Given the description of an element on the screen output the (x, y) to click on. 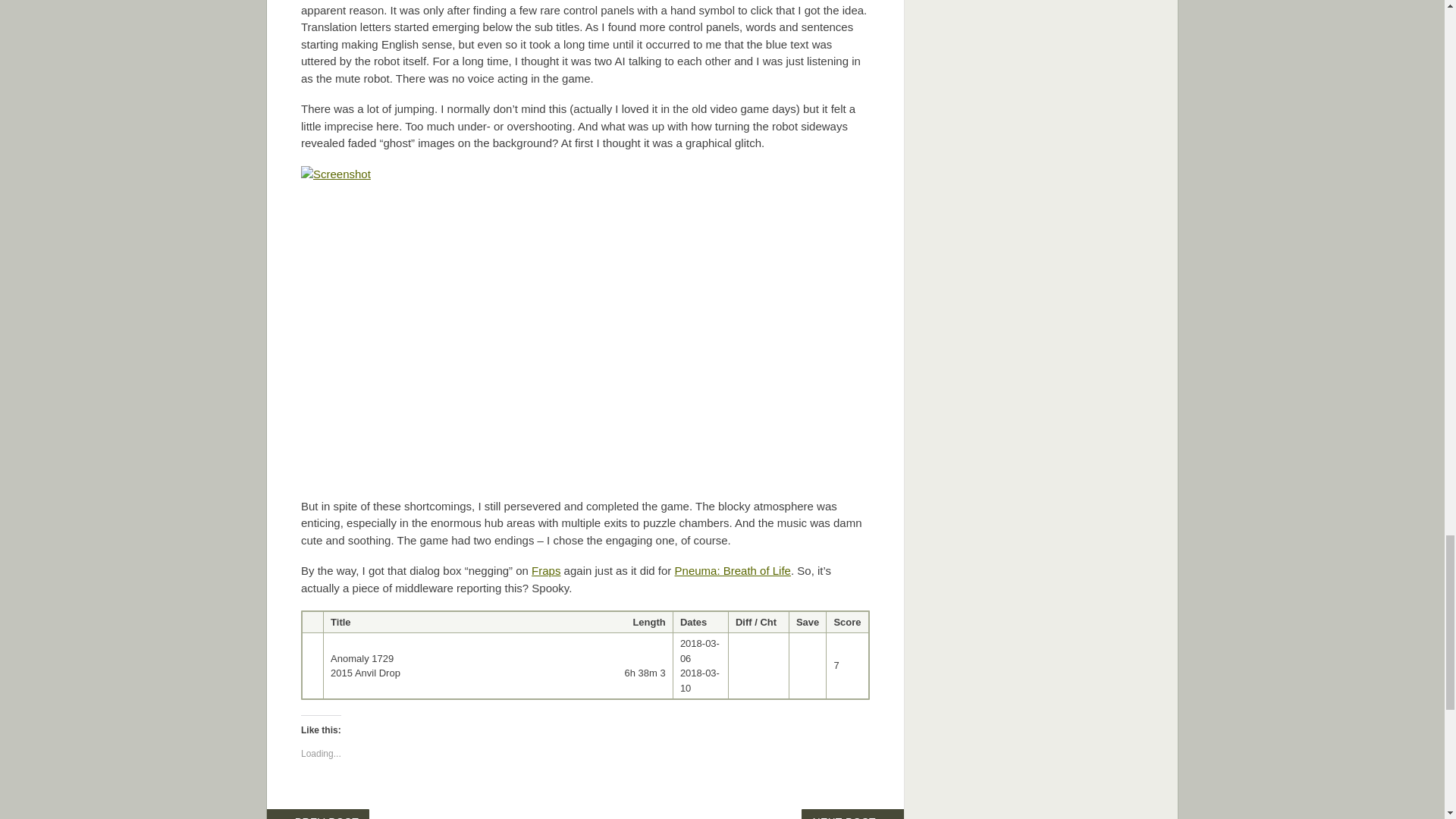
PREV POST (316, 814)
Fraps (545, 570)
Pneuma: Breath of Life (732, 570)
NEXT POST (853, 814)
